Given the description of an element on the screen output the (x, y) to click on. 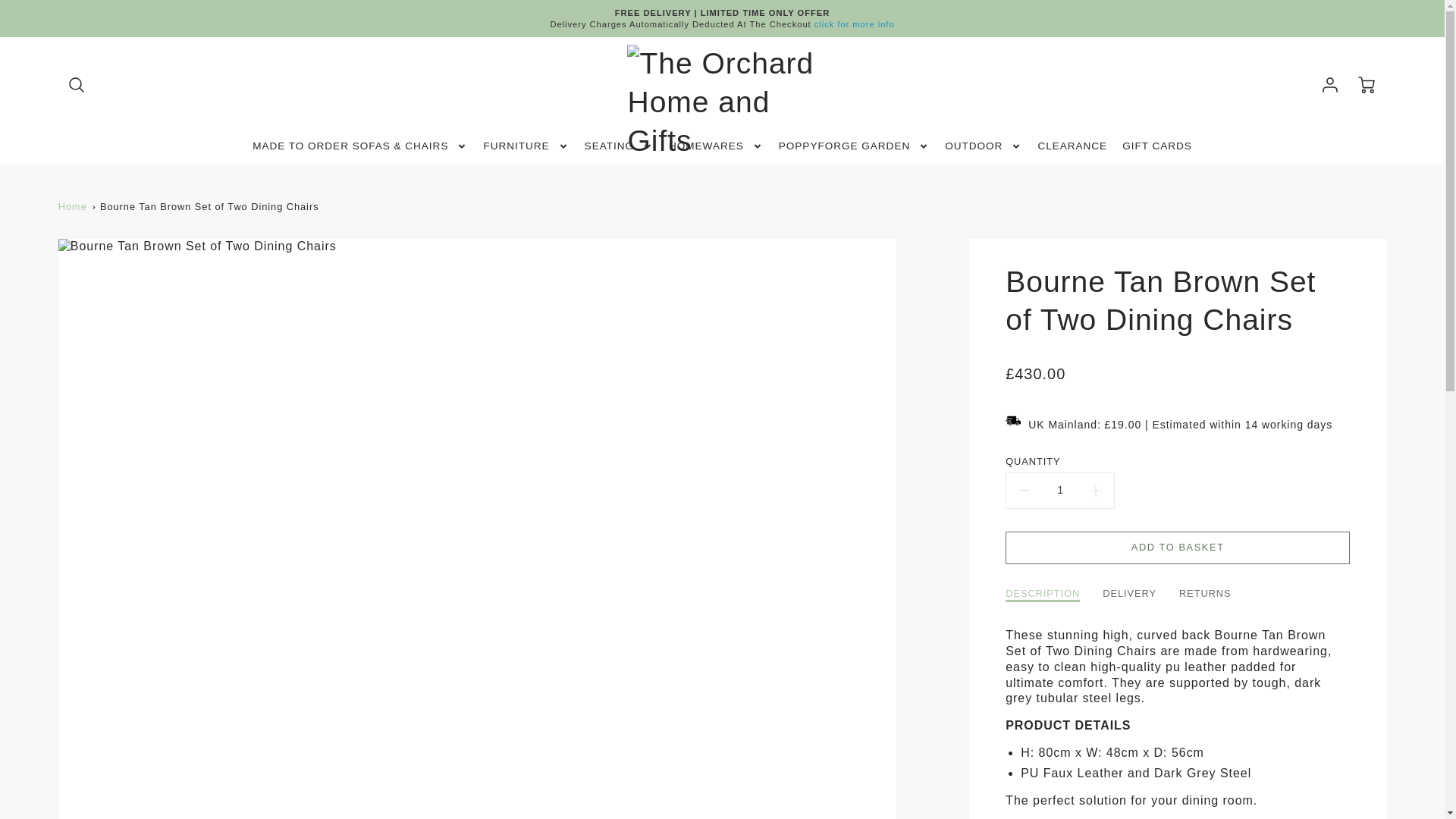
click for more info (854, 23)
1 (1059, 490)
FURNITURE (526, 146)
Delivery (854, 23)
